Given the description of an element on the screen output the (x, y) to click on. 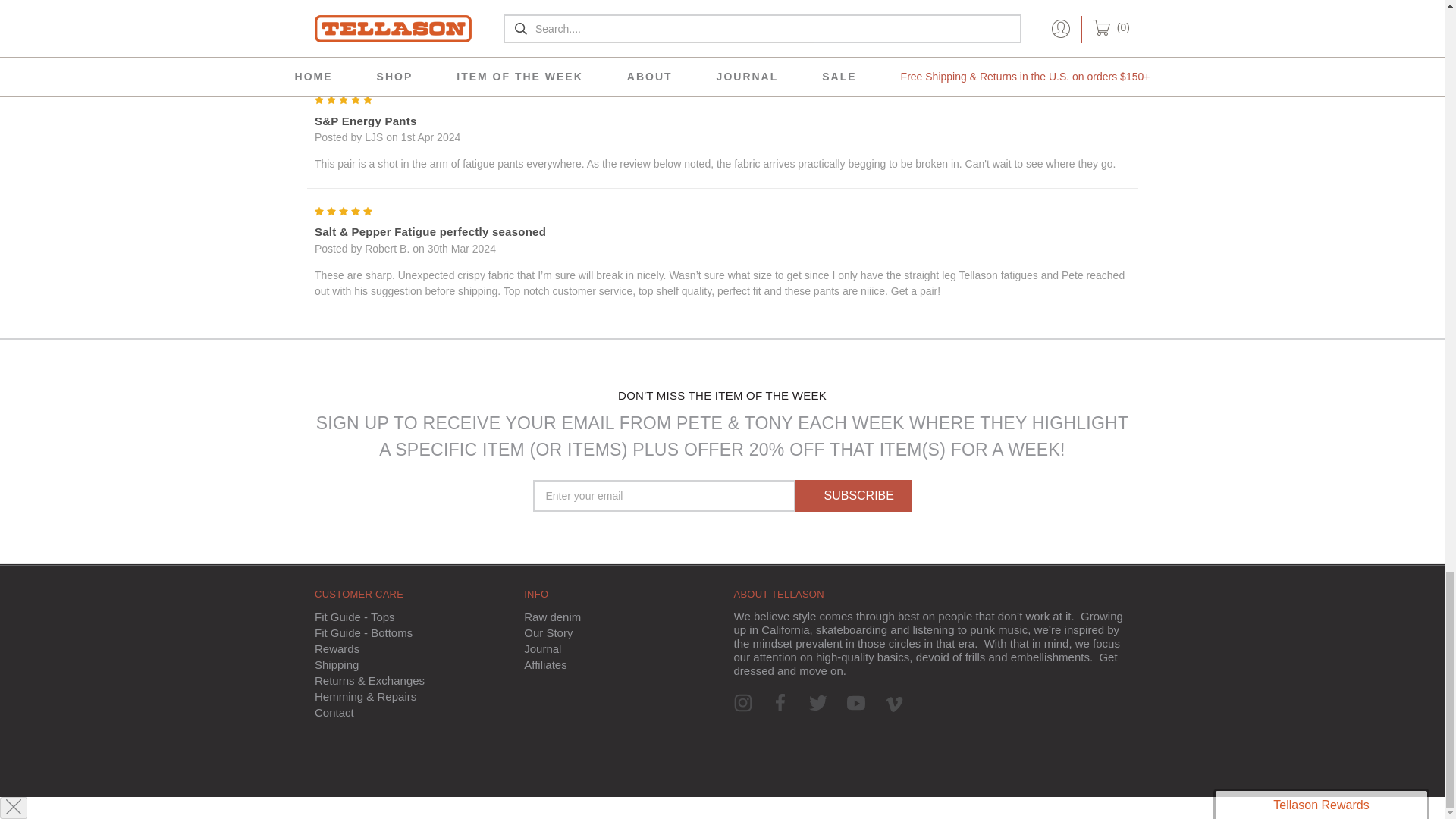
Subscribe (853, 495)
